Given the description of an element on the screen output the (x, y) to click on. 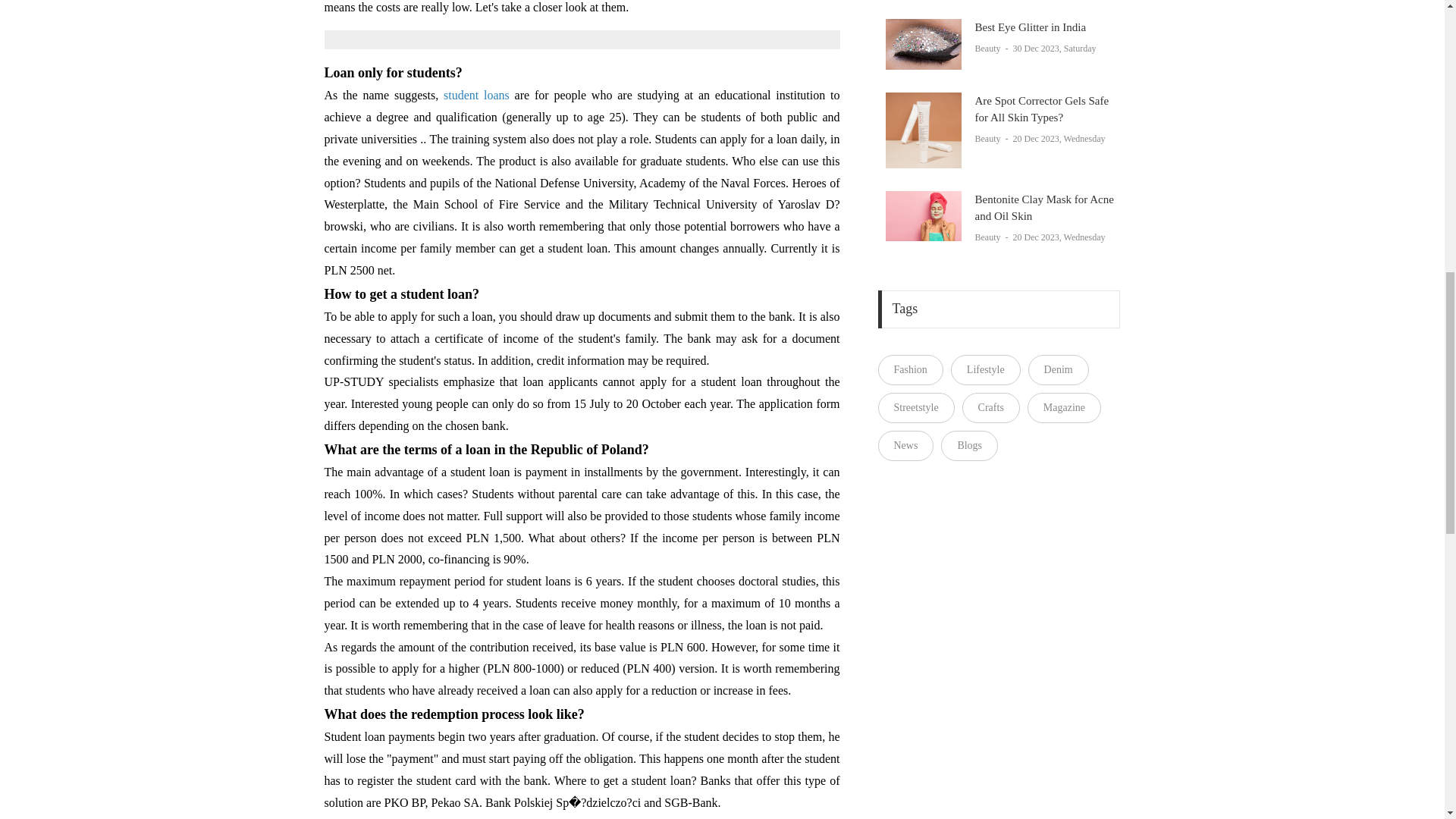
Best Eye Glitter in India (922, 43)
Bentonite Clay Mask for Acne and Oil Skin (922, 215)
Are Spot Corrector Gels Safe for All Skin Types? (922, 130)
